Given the description of an element on the screen output the (x, y) to click on. 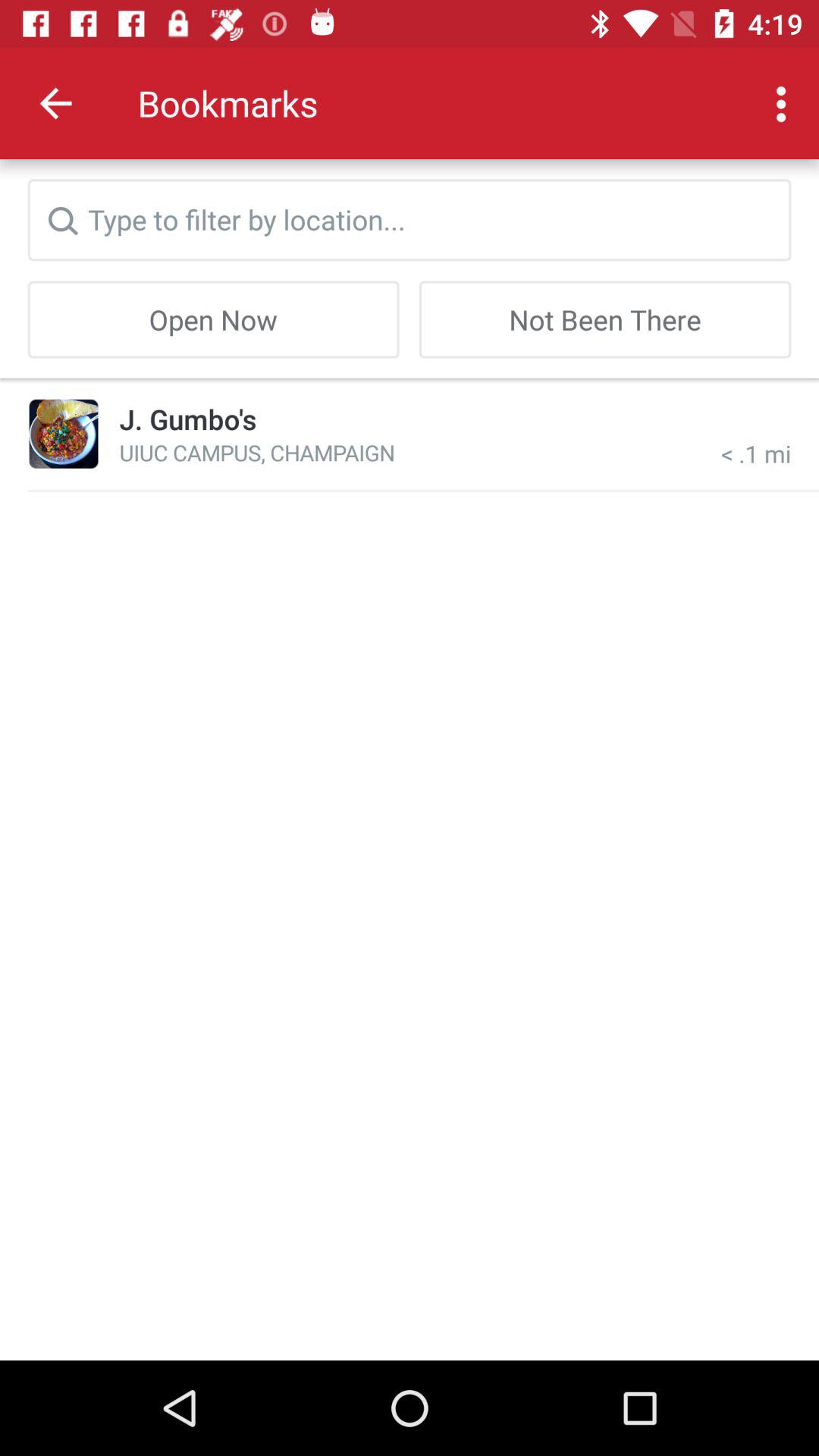
click the item below the < .1 mi item (423, 490)
